Given the description of an element on the screen output the (x, y) to click on. 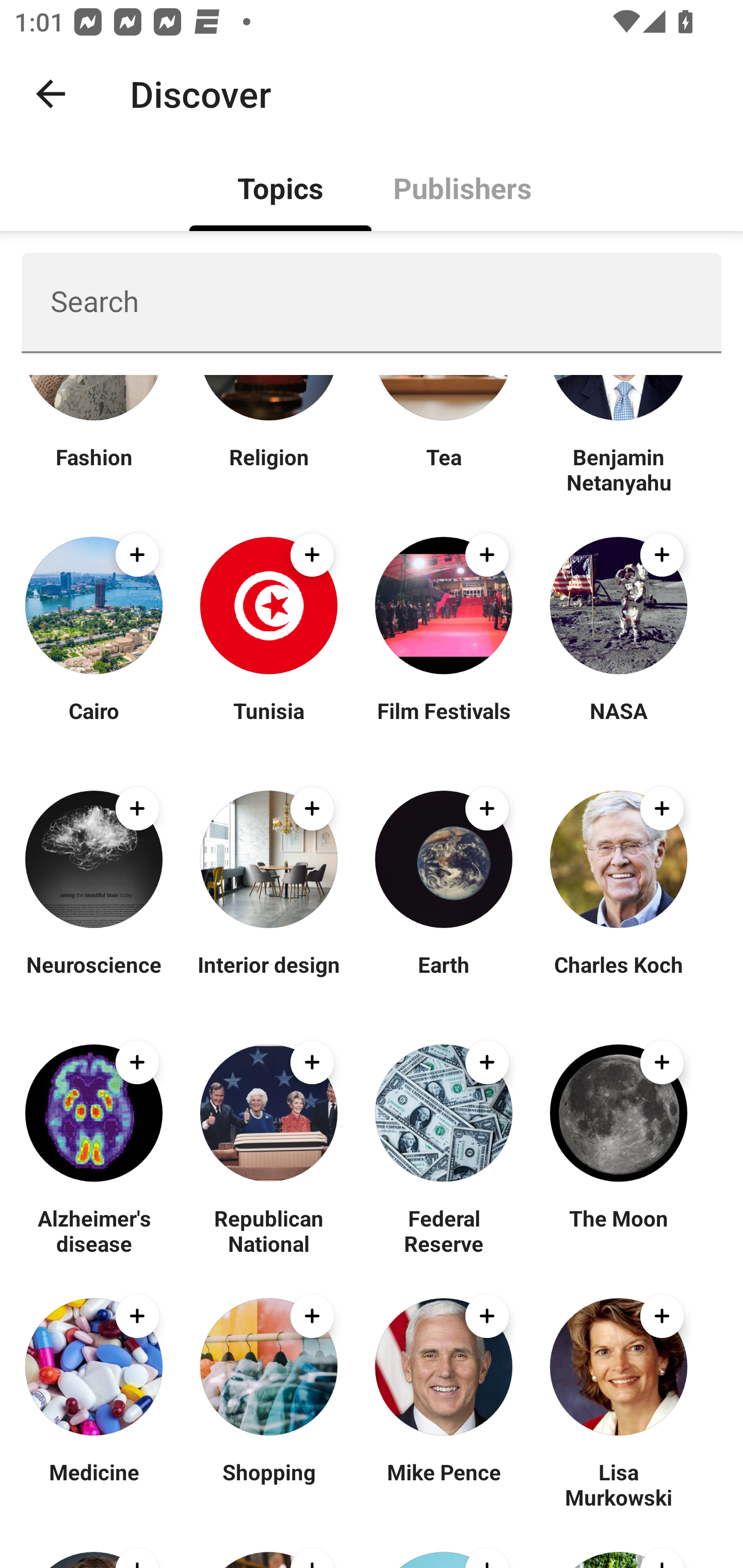
Publishers (462, 187)
Search (371, 302)
Fashion (93, 469)
Religion (268, 469)
Tea (443, 469)
Benjamin Netanyahu (618, 469)
Cairo (93, 723)
Tunisia (268, 723)
Film Festivals (443, 723)
NASA (618, 723)
Neuroscience (93, 976)
Interior design (268, 976)
Earth (443, 976)
Charles Koch (618, 976)
Alzheimer's disease (93, 1229)
Republican National Committee (268, 1229)
Federal Reserve (443, 1229)
The Moon (618, 1229)
Medicine (93, 1483)
Shopping (268, 1483)
Mike Pence (443, 1483)
Lisa Murkowski (618, 1483)
